Given the description of an element on the screen output the (x, y) to click on. 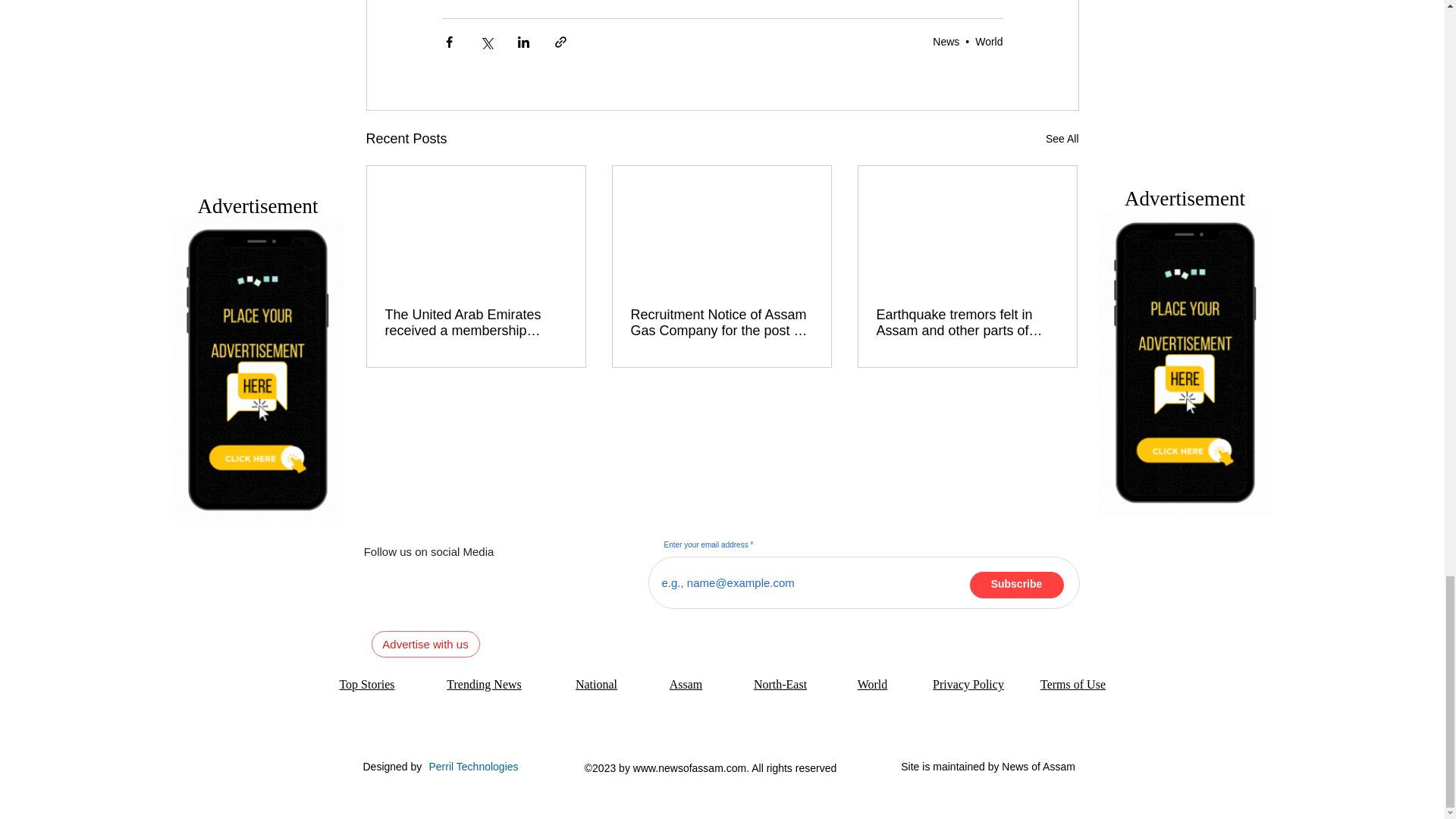
See All (1061, 138)
World (989, 41)
News (946, 41)
